Given the description of an element on the screen output the (x, y) to click on. 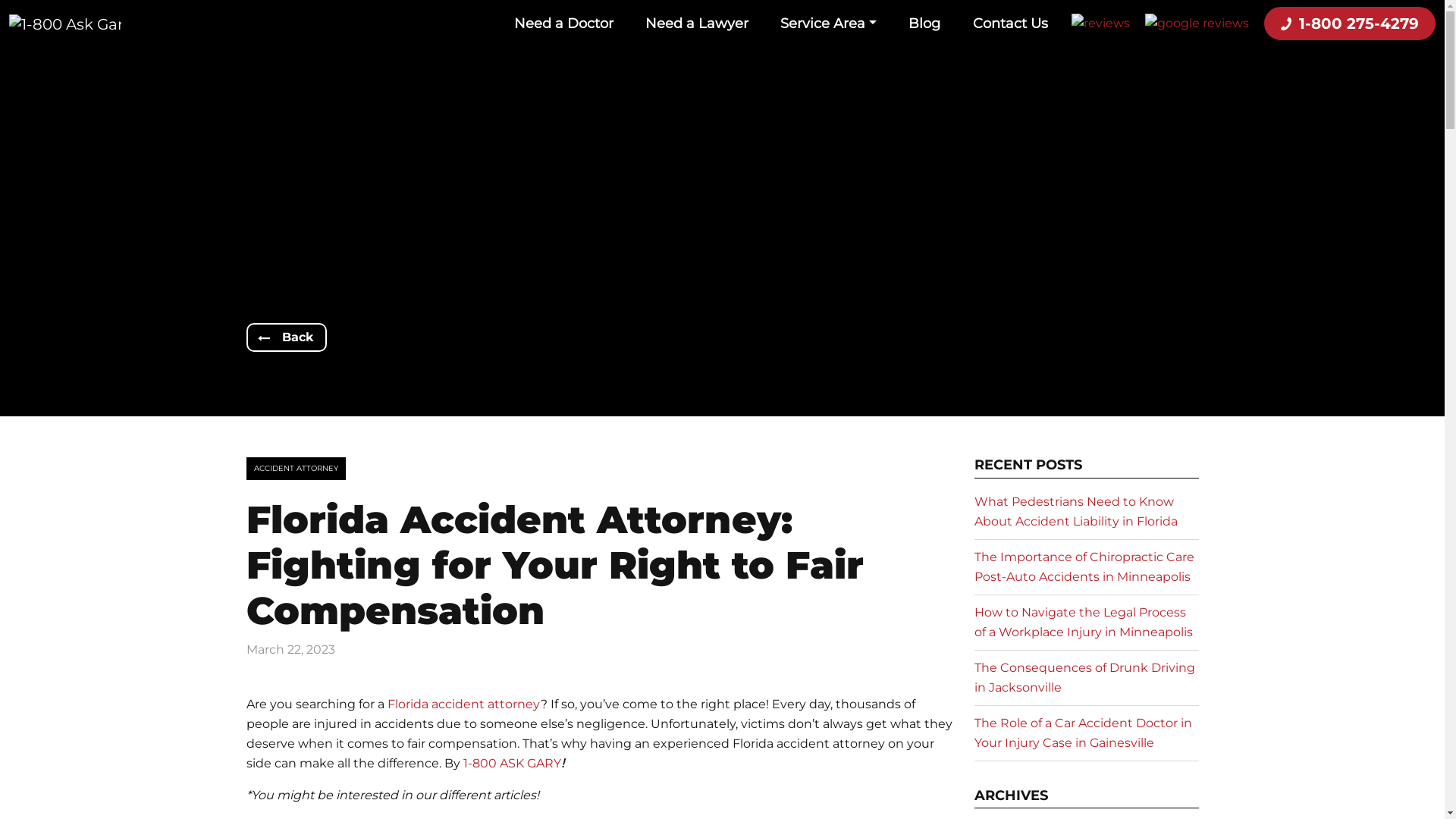
1-800 275-4279 Element type: text (1349, 23)
March 22, 2023 Element type: text (289, 649)
The Consequences of Drunk Driving in Jacksonville Element type: text (1083, 677)
Contact Us Element type: text (1010, 23)
1-800 ASK GARY Element type: text (511, 763)
Need a Lawyer Element type: text (696, 23)
Need a Doctor Element type: text (563, 23)
Blog Element type: text (924, 23)
ACCIDENT ATTORNEY Element type: text (295, 468)
Service Area Element type: text (827, 23)
Florida accident attorney Element type: text (462, 703)
Back Element type: text (285, 337)
